Given the description of an element on the screen output the (x, y) to click on. 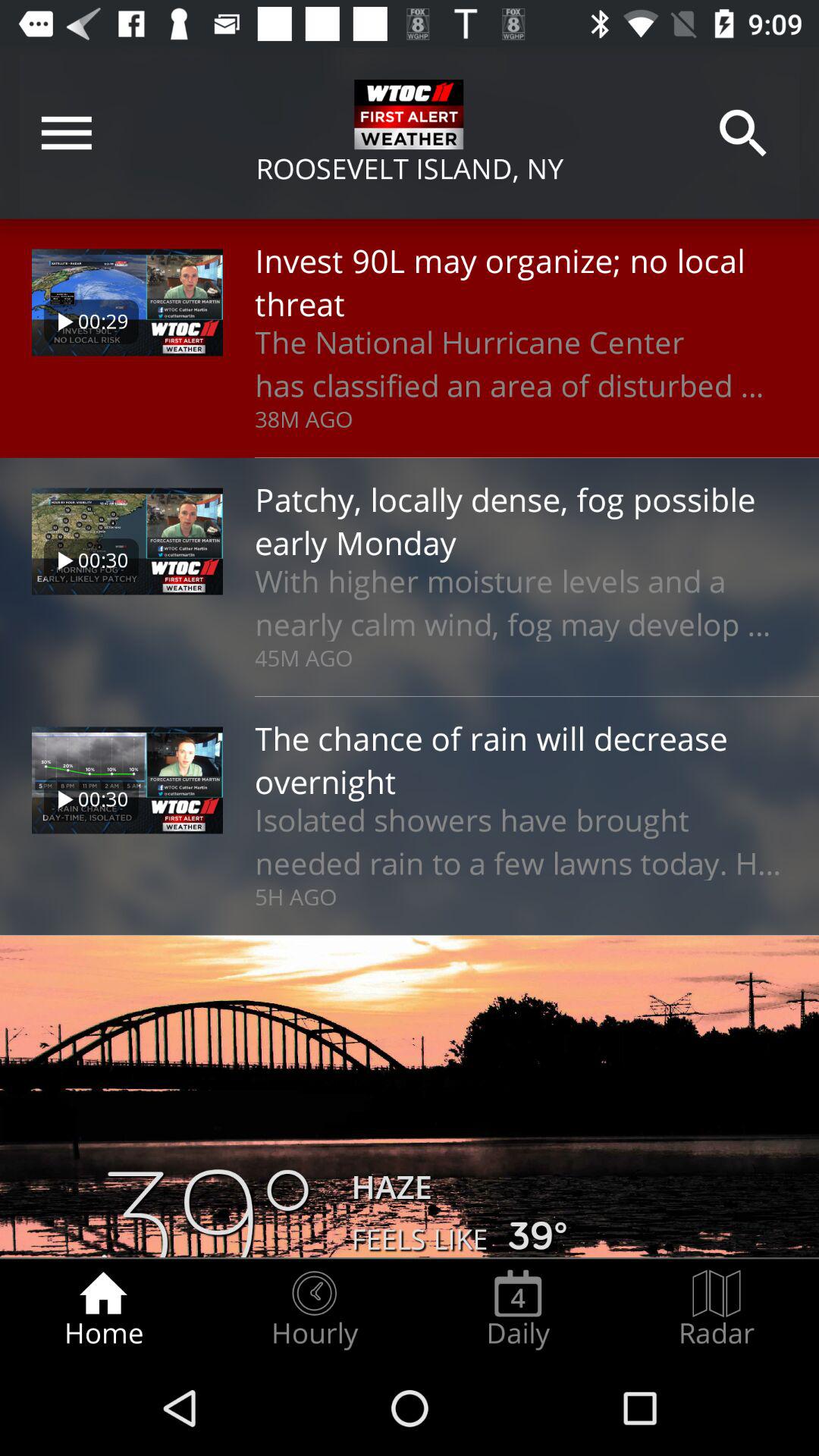
jump to daily radio button (518, 1309)
